Given the description of an element on the screen output the (x, y) to click on. 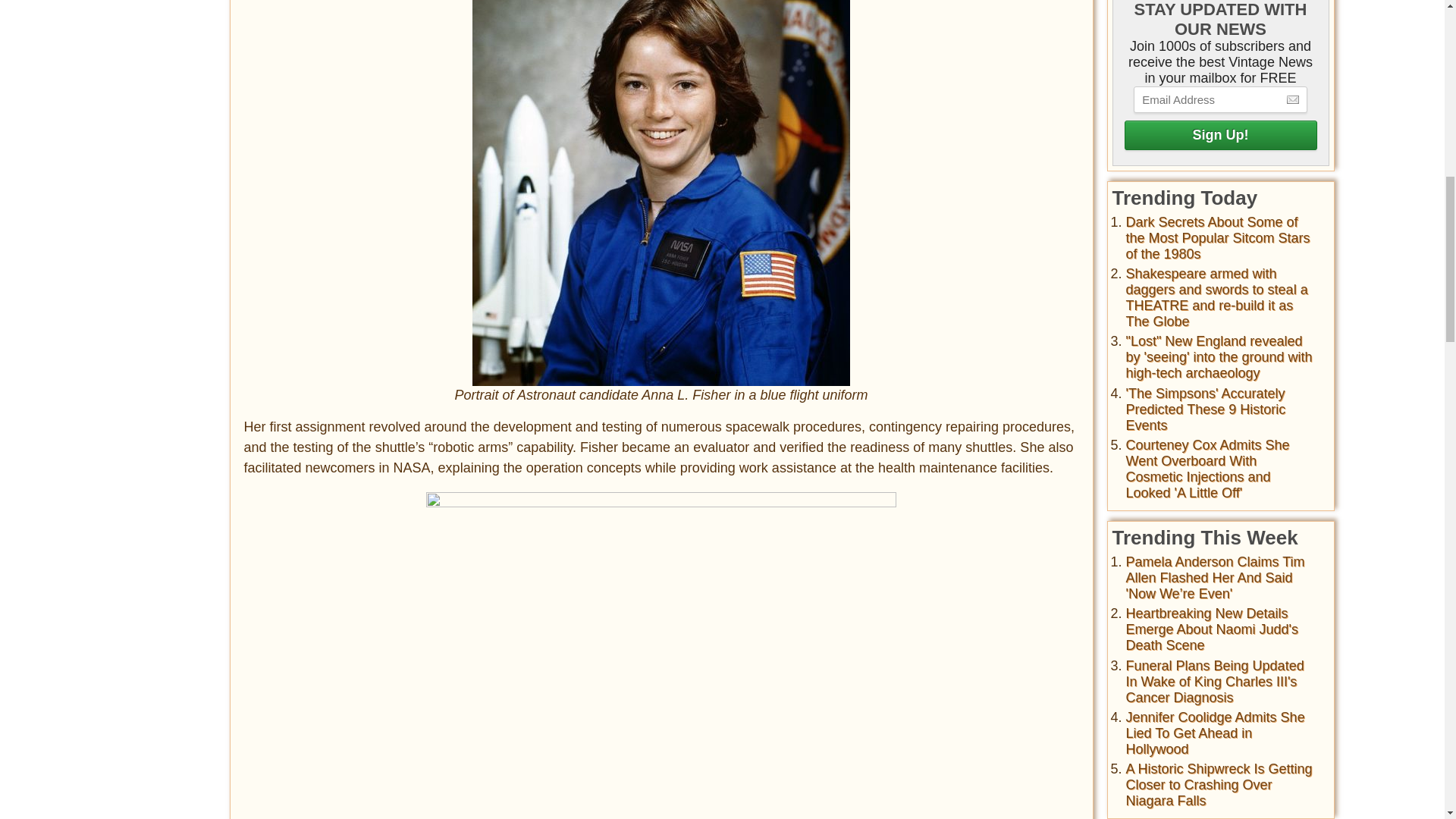
Sign Up! (1220, 134)
